Given the description of an element on the screen output the (x, y) to click on. 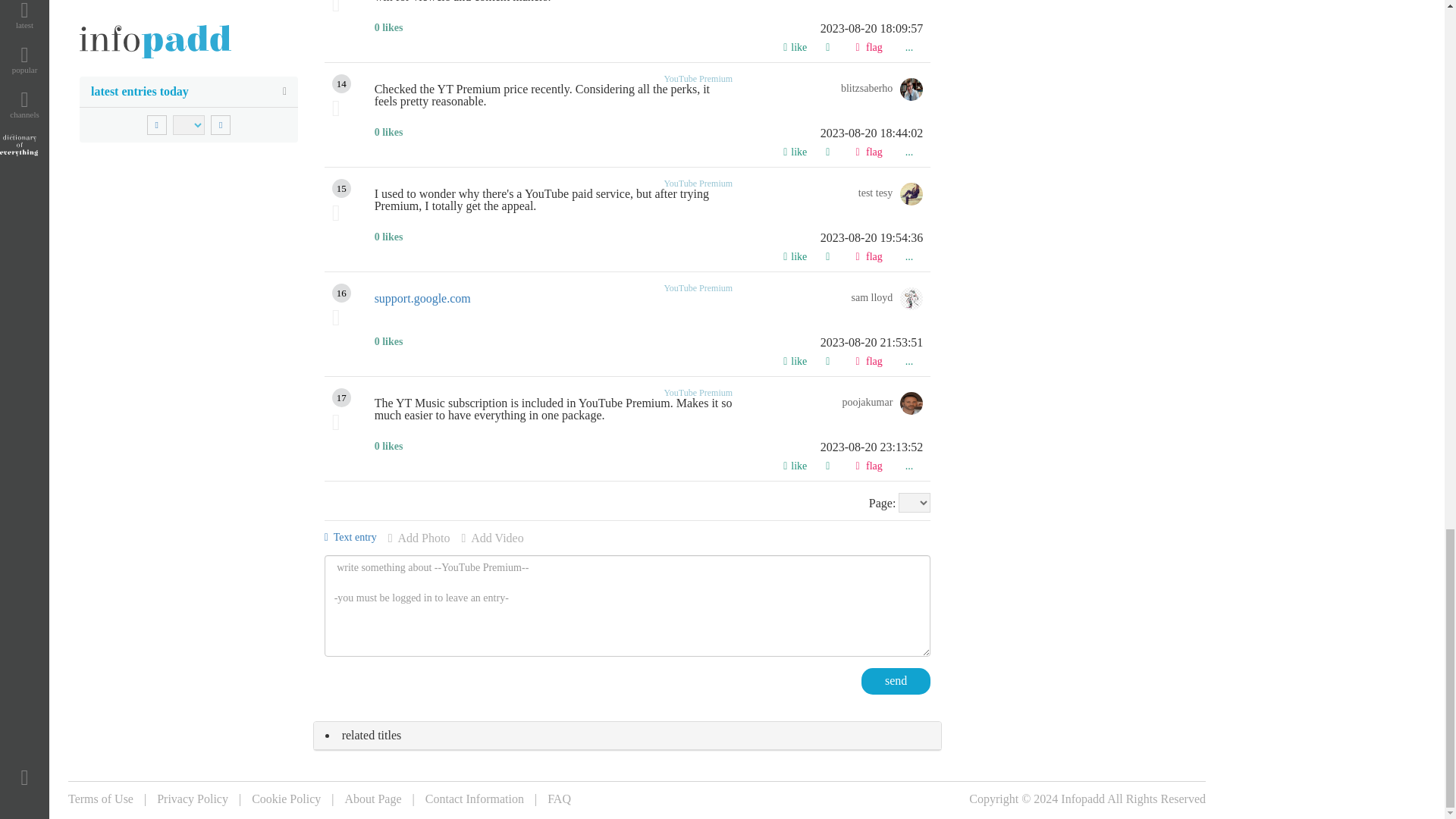
2023-08-20 18:44:02 (648, 133)
2023-08-20 21:53:51 (648, 342)
2023-08-20 19:54:36 (648, 237)
2023-08-20 23:13:52 (648, 447)
2023-08-20 18:09:57 (648, 28)
